Given the description of an element on the screen output the (x, y) to click on. 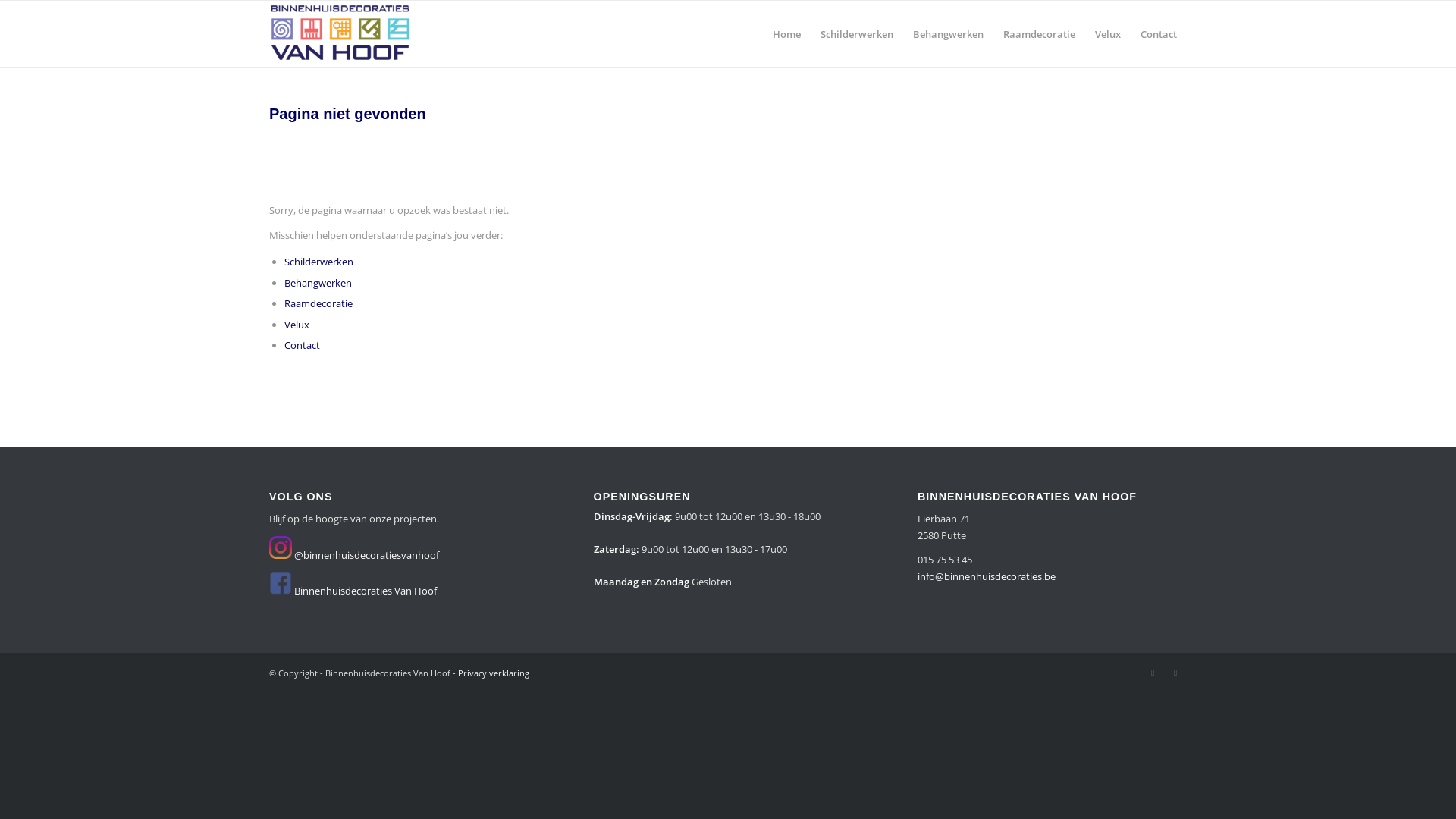
Behangwerken Element type: text (317, 282)
Home Element type: text (786, 33)
Behangwerken Element type: text (948, 33)
Privacy verklaring Element type: text (493, 672)
Raamdecoratie Element type: text (318, 303)
@binnenhuisdecoratiesvanhoof Element type: text (366, 554)
Schilderwerken Element type: text (318, 261)
logo-binnenhuisdecoratiesvanhoof Element type: hover (341, 33)
Contact Element type: text (1158, 33)
Facebook Element type: hover (1175, 672)
Contact Element type: text (302, 344)
Velux Element type: text (296, 323)
Velux Element type: text (1107, 33)
Instagram Element type: hover (1152, 672)
Schilderwerken Element type: text (856, 33)
Binnenhuisdecoraties Van Hoof Element type: text (365, 590)
info@binnenhuisdecoraties.be Element type: text (986, 576)
binnenhuisdecoratiesvanhoof Element type: hover (280, 547)
Raamdecoratie Element type: text (1039, 33)
